Given the description of an element on the screen output the (x, y) to click on. 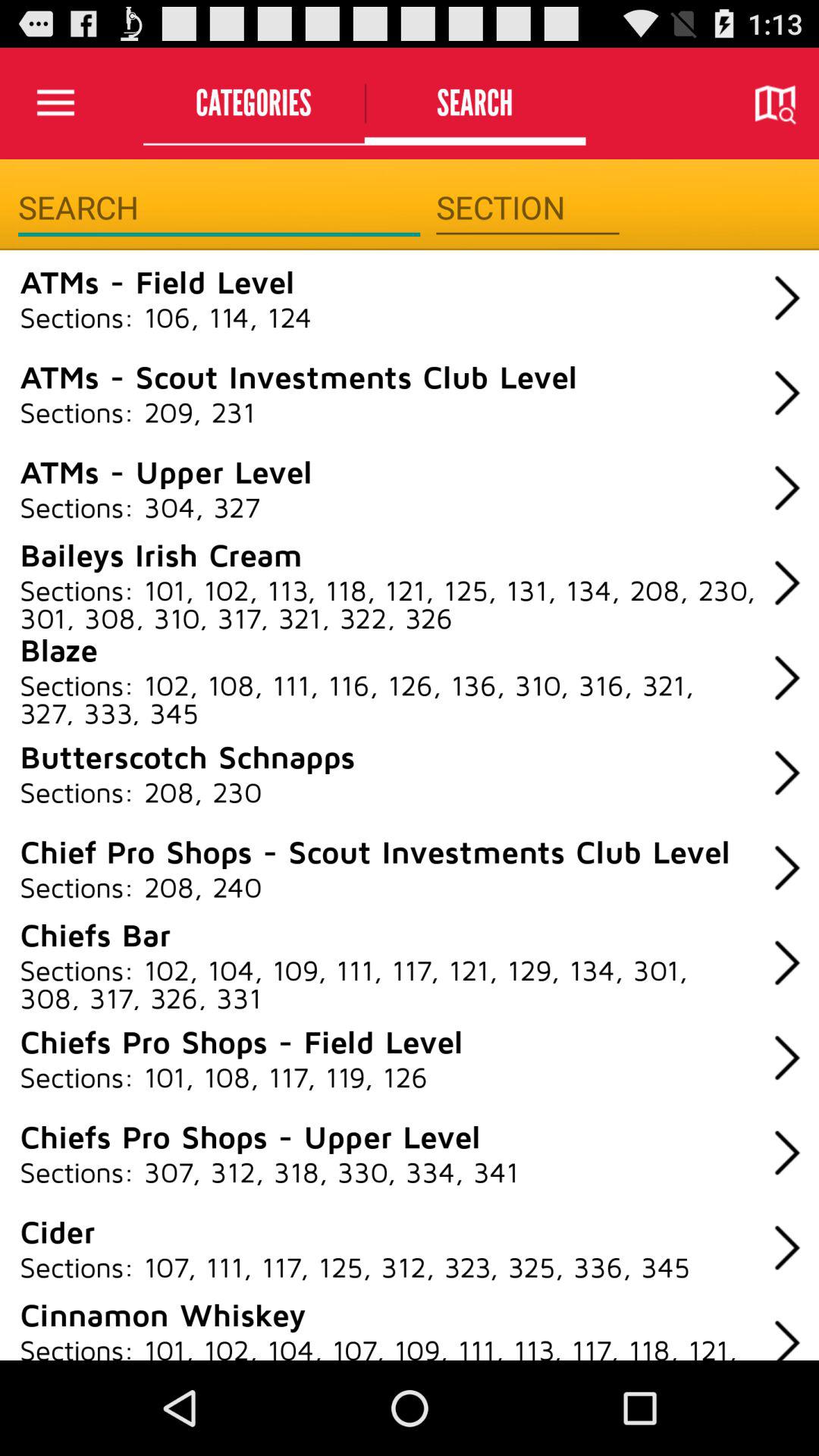
search box (219, 207)
